Given the description of an element on the screen output the (x, y) to click on. 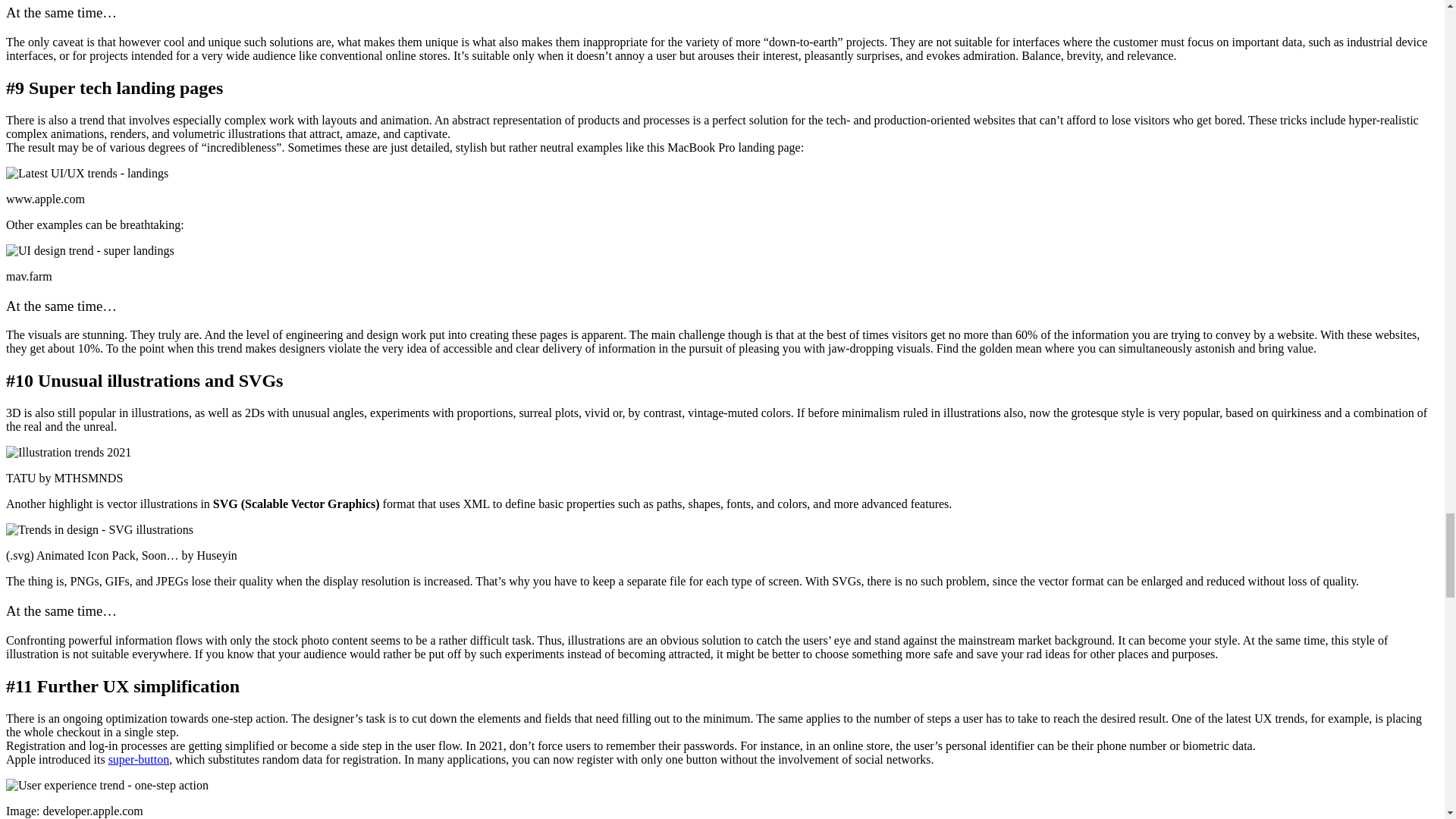
super-button (138, 758)
